Given the description of an element on the screen output the (x, y) to click on. 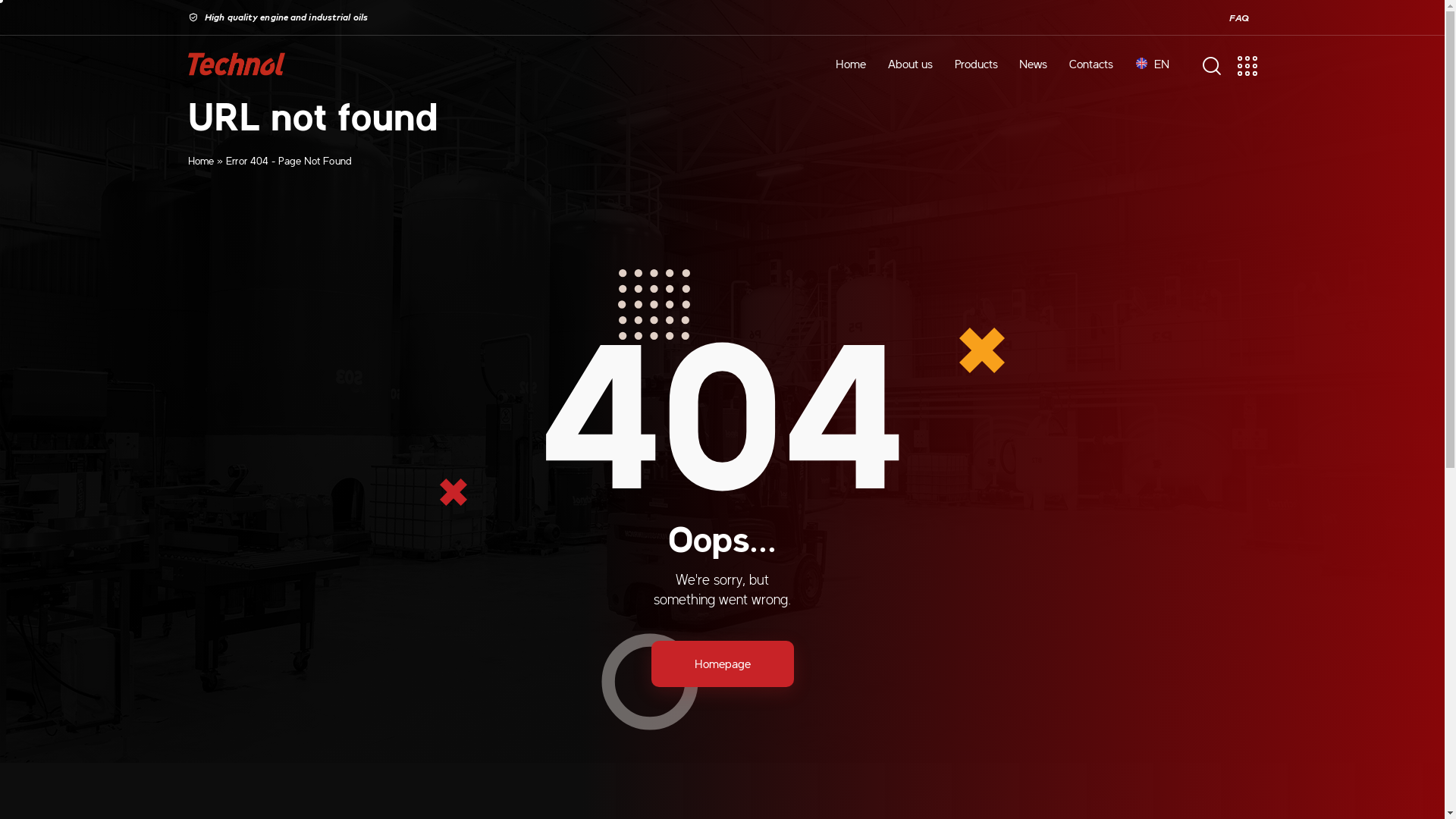
FAQ Element type: text (1238, 18)
About us Element type: text (909, 64)
Contacts Element type: text (1091, 64)
EN Element type: text (1152, 64)
Home Element type: text (200, 159)
Home Element type: text (851, 64)
Products Element type: text (975, 64)
News Element type: text (1033, 64)
Homepage Element type: text (721, 663)
